Given the description of an element on the screen output the (x, y) to click on. 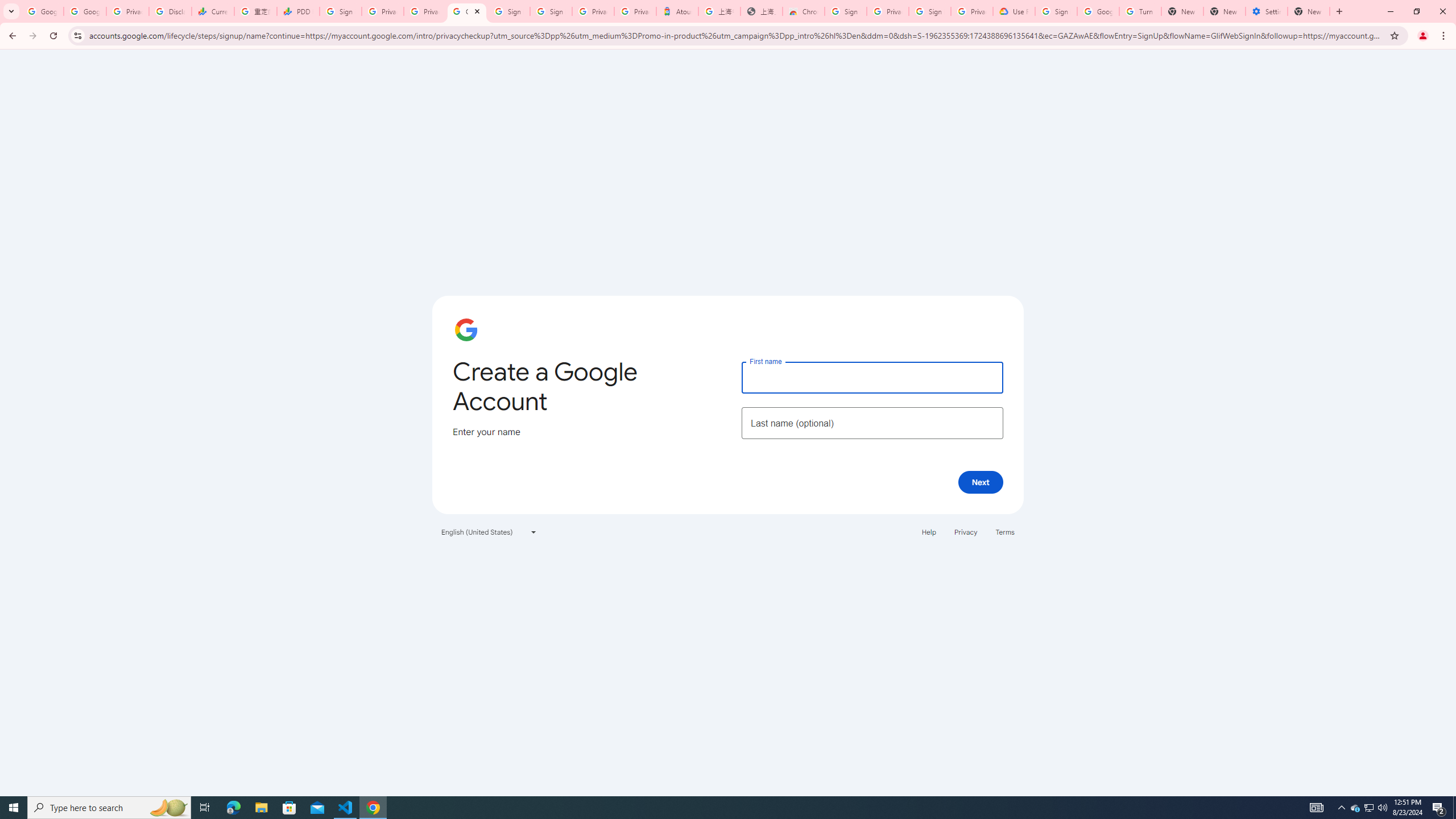
Sign in - Google Accounts (340, 11)
Turn cookies on or off - Computer - Google Account Help (1139, 11)
Restore (1416, 11)
Google Workspace Admin Community (42, 11)
PDD Holdings Inc - ADR (PDD) Price & News - Google Finance (298, 11)
Reload (52, 35)
Atour Hotel - Google hotels (676, 11)
Last name (optional) (871, 422)
